Given the description of an element on the screen output the (x, y) to click on. 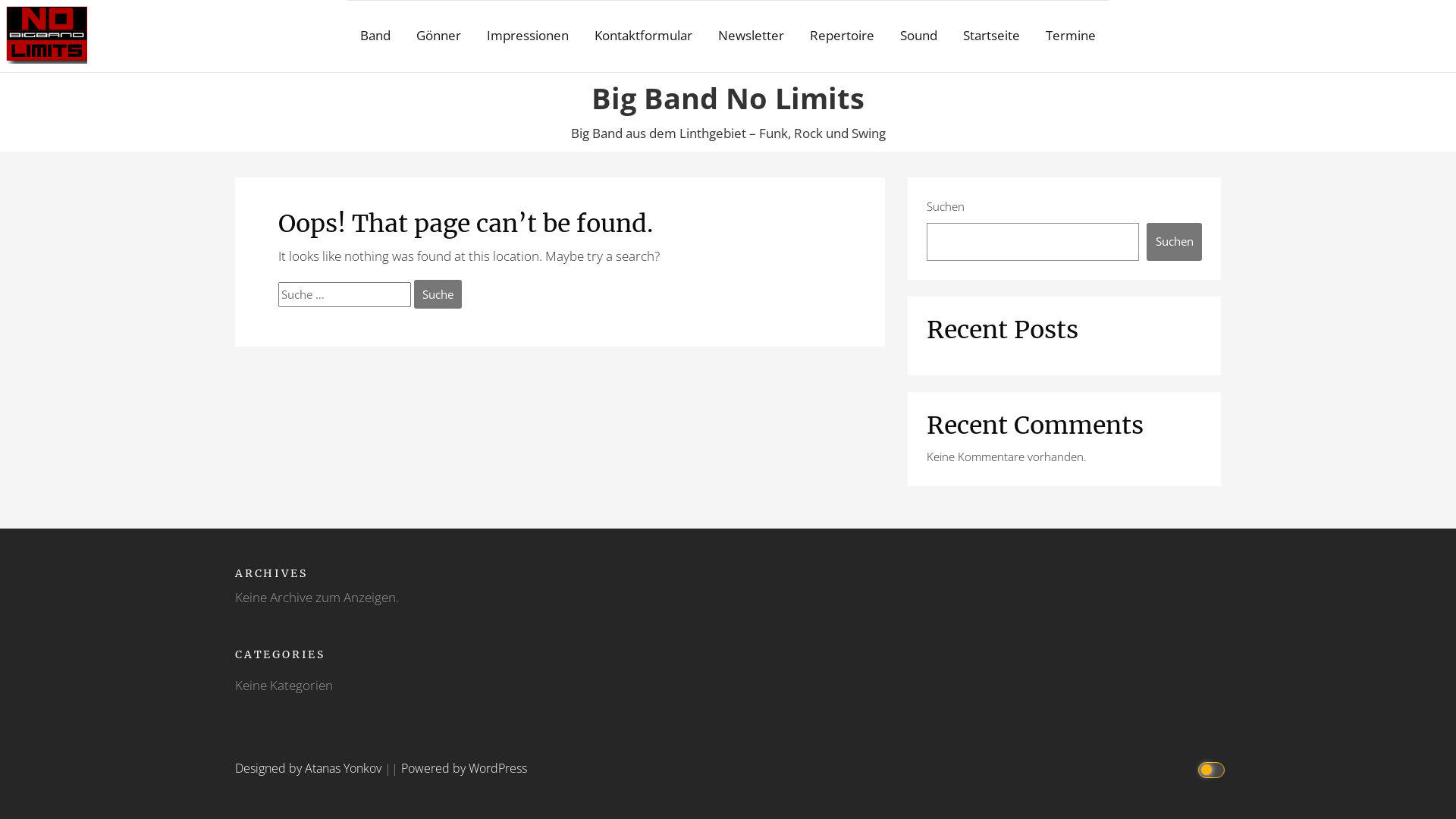
Termine Element type: text (1070, 36)
Big Band No Limits Element type: text (727, 83)
Suchen Element type: text (1173, 241)
Designed by Atanas Yonkov Element type: text (309, 767)
Sound Element type: text (918, 36)
Band Element type: text (375, 36)
Powered by WordPress Element type: text (464, 767)
Startseite Element type: text (991, 36)
Kontaktformular Element type: text (643, 36)
Newsletter Element type: text (751, 36)
Repertoire Element type: text (842, 36)
Suche Element type: text (438, 293)
Impressionen Element type: text (527, 36)
